Given the description of an element on the screen output the (x, y) to click on. 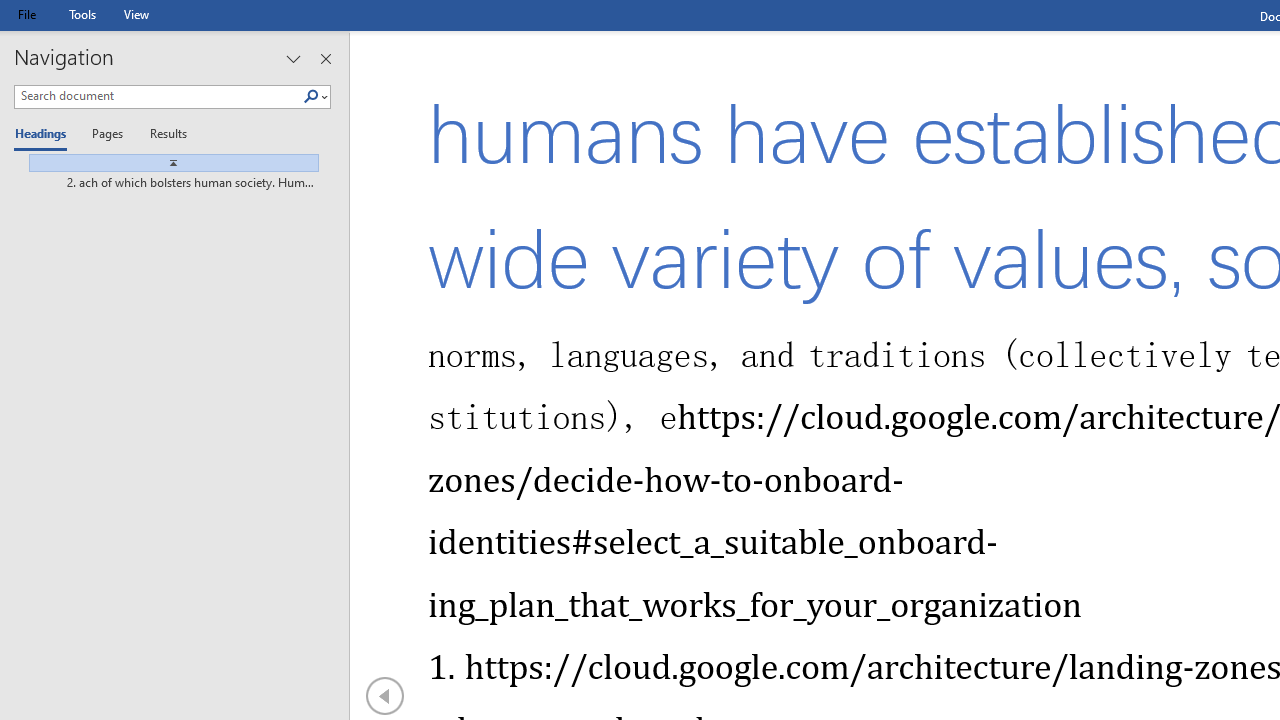
Tools (82, 14)
Jump to the beginning (166, 163)
